Given the description of an element on the screen output the (x, y) to click on. 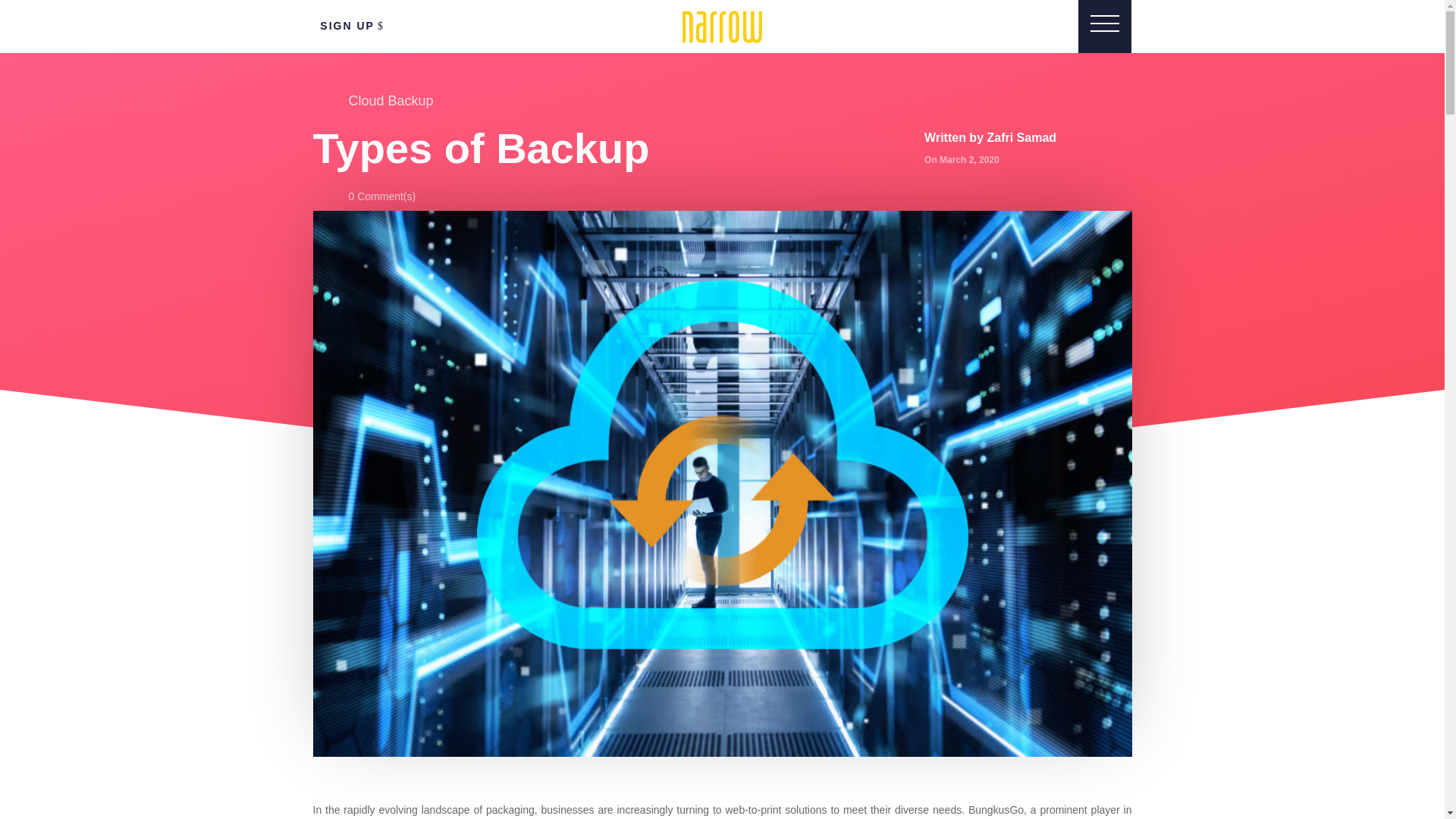
Zafri Samad (1022, 137)
Cloud Backup (391, 100)
SIGN UP (353, 26)
